Given the description of an element on the screen output the (x, y) to click on. 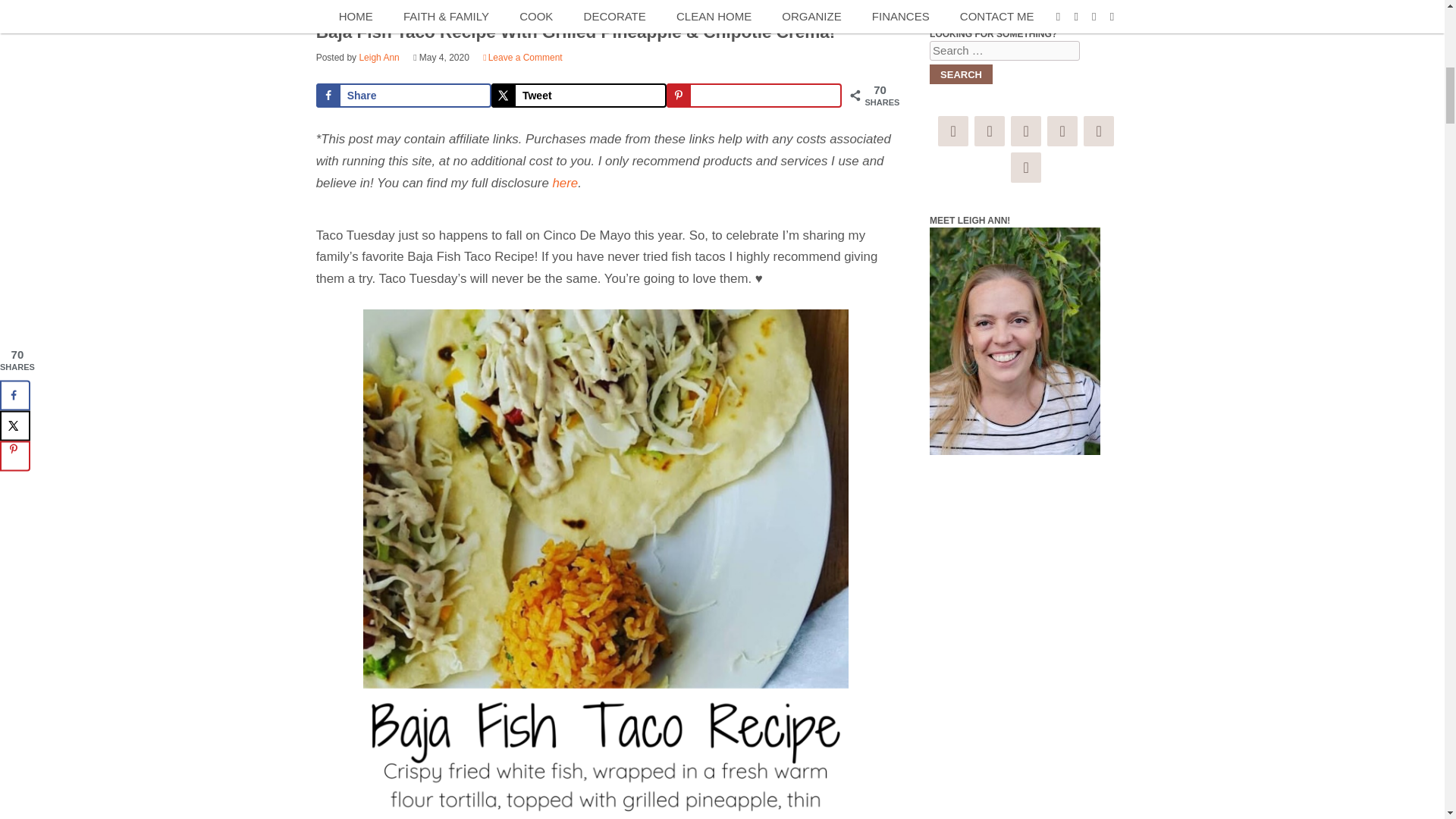
YouTube (1025, 167)
Search (961, 73)
Share on X (579, 95)
Twitter (1061, 131)
Posts by Leigh Ann (378, 57)
Contact (1098, 131)
Instagram (1025, 131)
Pinterest (989, 131)
Share on Facebook (403, 95)
Facebook (952, 131)
